Given the description of an element on the screen output the (x, y) to click on. 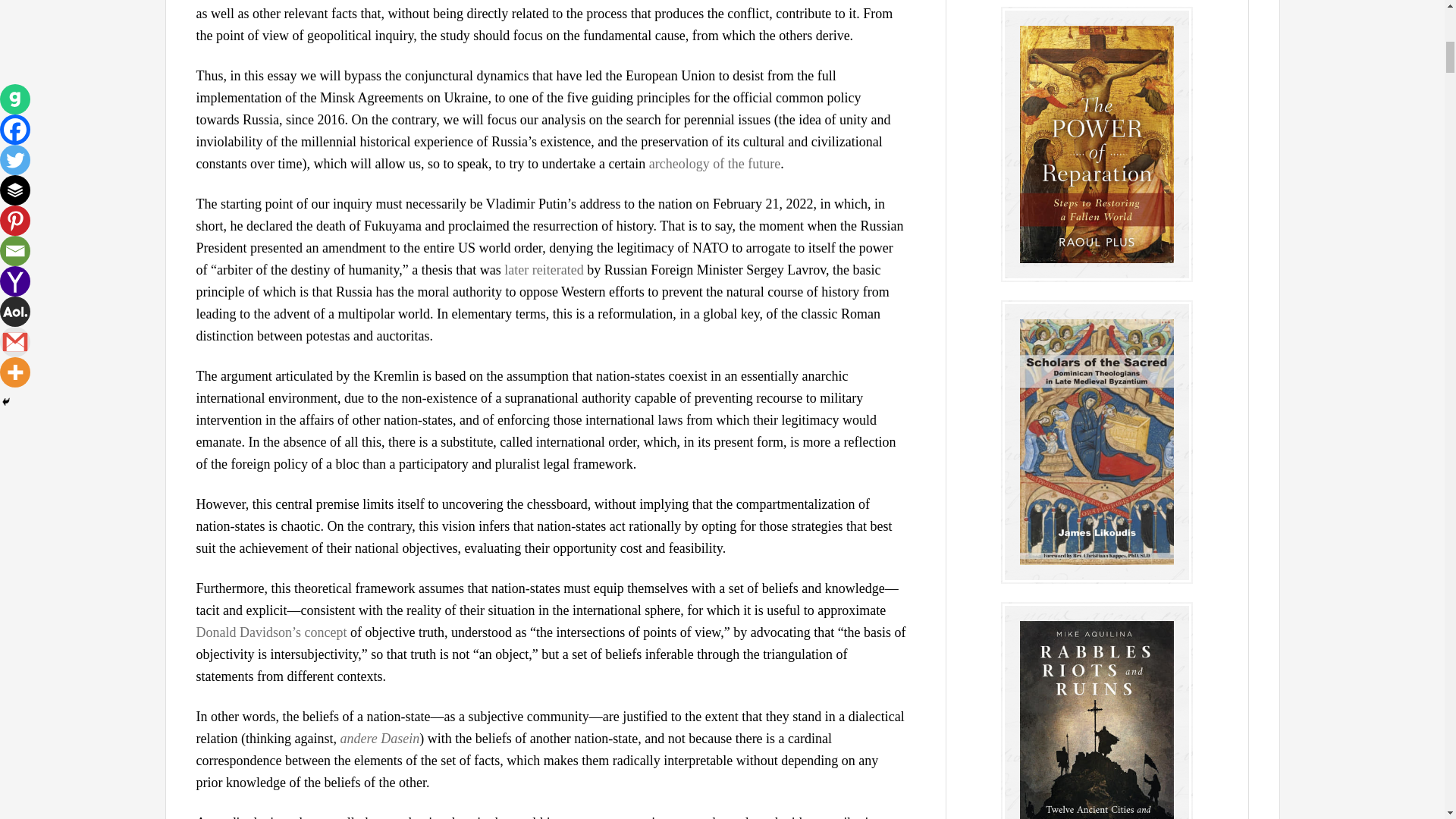
later reiterated (543, 269)
andere Dasein (379, 738)
archeology of the future (714, 163)
